Given the description of an element on the screen output the (x, y) to click on. 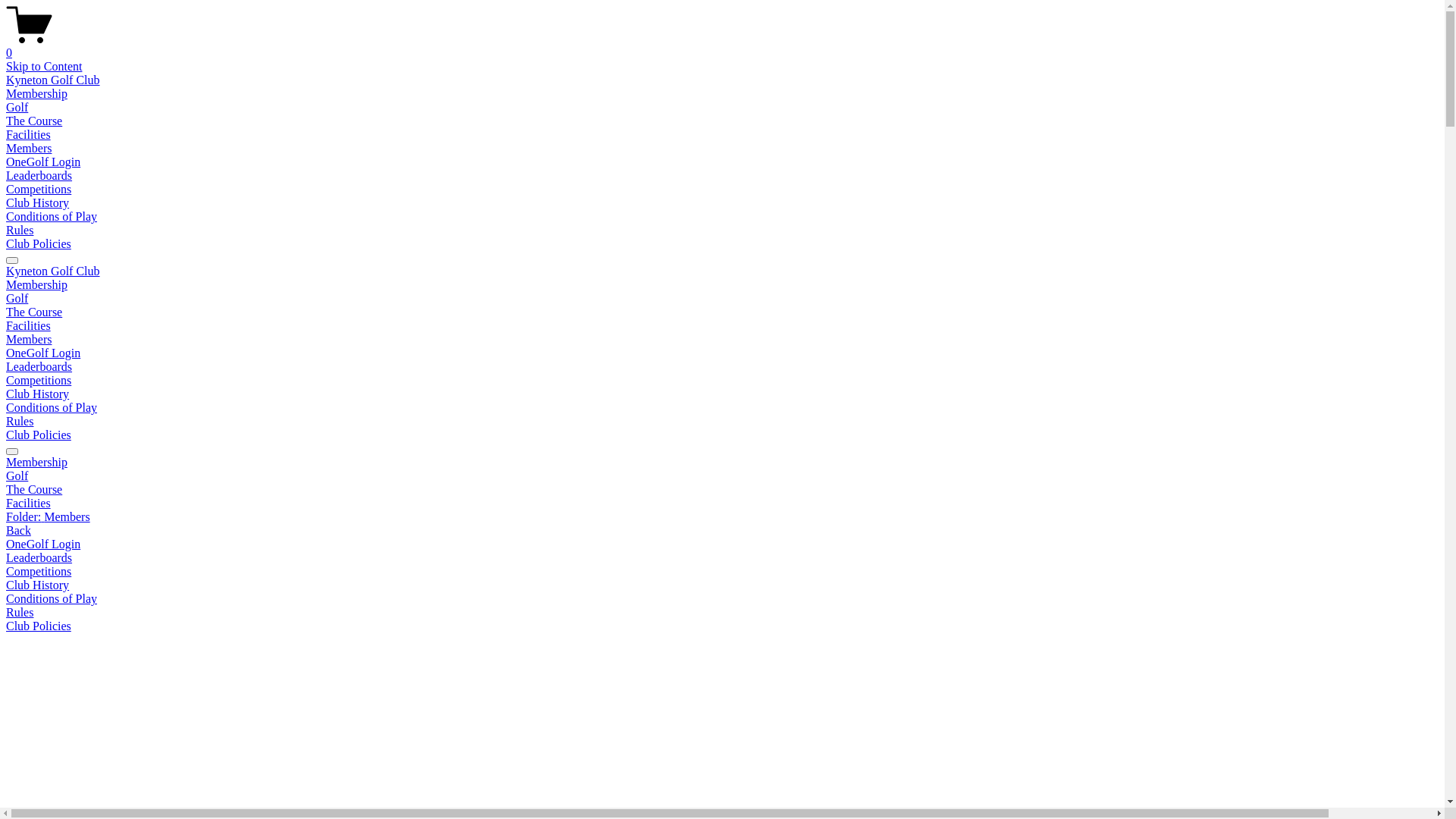
Competitions Element type: text (38, 188)
Facilities Element type: text (28, 325)
Membership Element type: text (722, 462)
Members Element type: text (28, 338)
Club Policies Element type: text (722, 626)
Rules Element type: text (19, 229)
Club Policies Element type: text (38, 434)
Rules Element type: text (19, 420)
Conditions of Play Element type: text (51, 407)
0 Element type: text (722, 45)
Leaderboards Element type: text (39, 175)
The Course Element type: text (34, 311)
Conditions of Play Element type: text (722, 598)
Membership Element type: text (36, 93)
The Course Element type: text (34, 120)
Rules Element type: text (722, 612)
Kyneton Golf Club Element type: text (53, 79)
Leaderboards Element type: text (39, 557)
Back Element type: text (18, 530)
Golf Element type: text (17, 297)
Kyneton Golf Club Element type: text (53, 270)
Club History Element type: text (722, 585)
The Course Element type: text (722, 489)
Leaderboards Element type: text (39, 366)
Competitions Element type: text (722, 571)
Club History Element type: text (37, 202)
OneGolf Login Element type: text (43, 352)
OneGolf Login Element type: text (43, 543)
Members Element type: text (28, 147)
Membership Element type: text (36, 284)
Club Policies Element type: text (38, 243)
Skip to Content Element type: text (43, 65)
Facilities Element type: text (722, 503)
OneGolf Login Element type: text (43, 161)
Conditions of Play Element type: text (51, 216)
Folder: Members Element type: text (722, 517)
Competitions Element type: text (38, 379)
Club History Element type: text (37, 393)
Golf Element type: text (722, 476)
Facilities Element type: text (28, 134)
Golf Element type: text (17, 106)
